Given the description of an element on the screen output the (x, y) to click on. 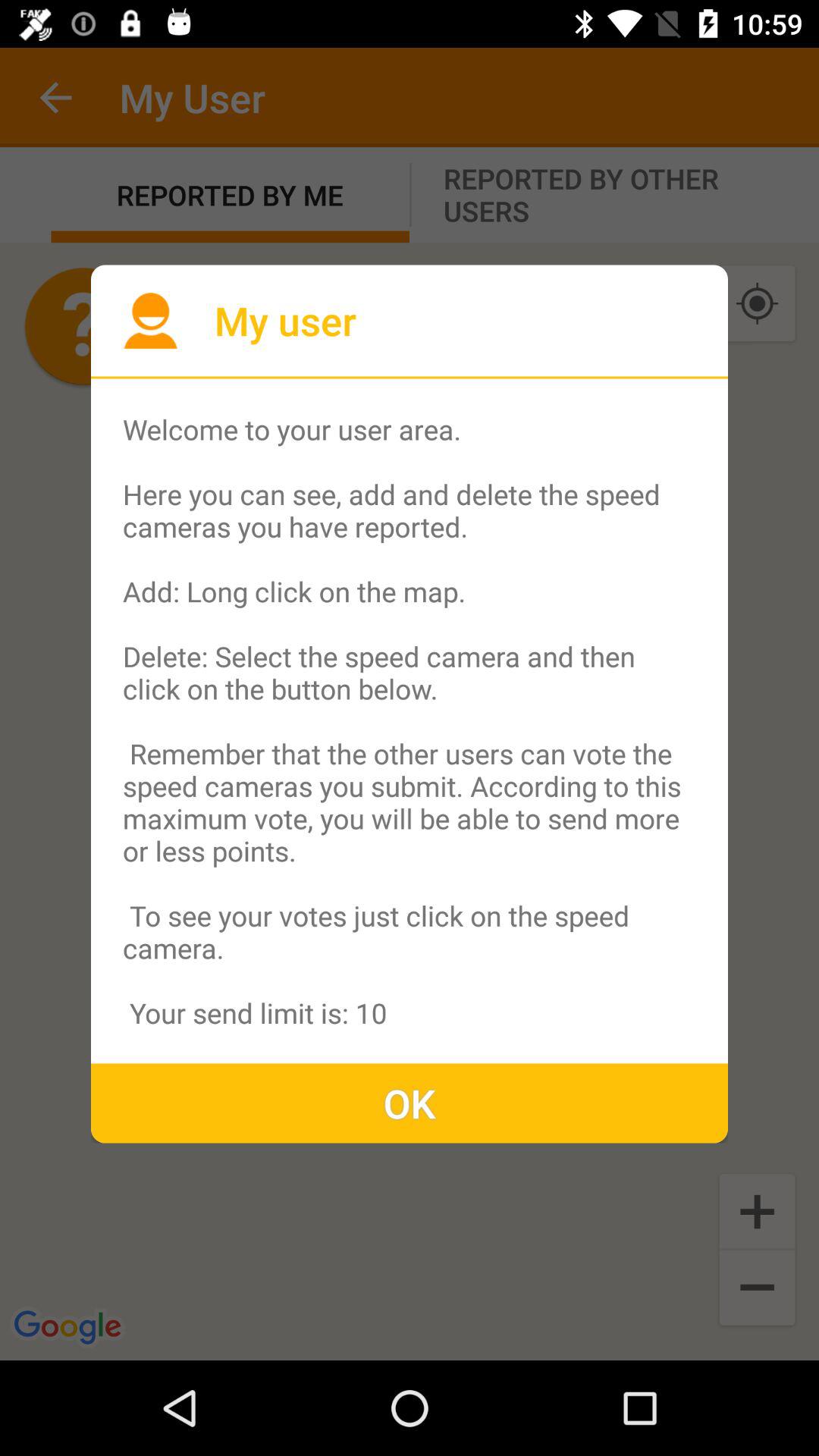
launch app next to my user icon (150, 320)
